Given the description of an element on the screen output the (x, y) to click on. 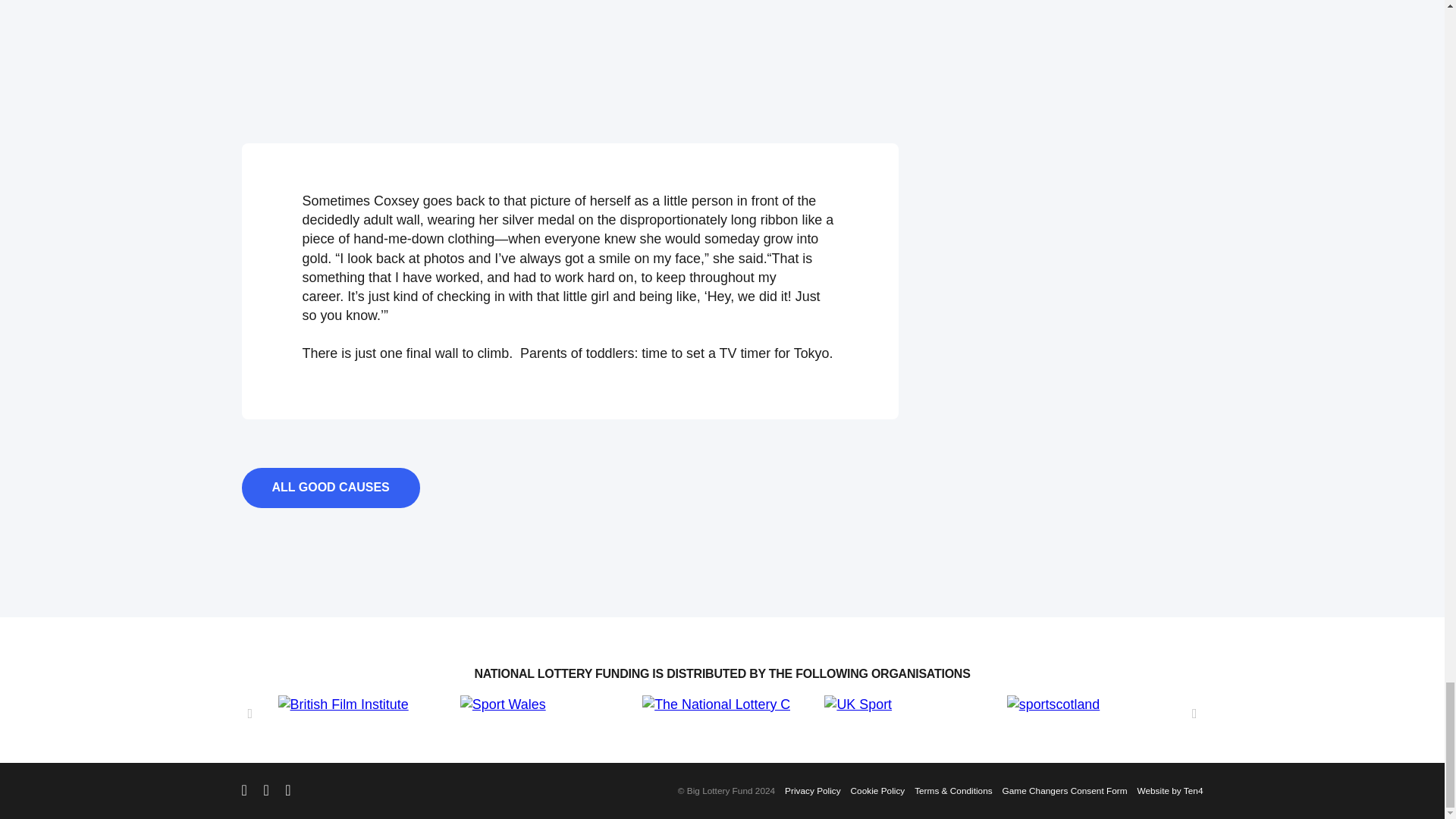
ALL GOOD CAUSES (330, 487)
